Given the description of an element on the screen output the (x, y) to click on. 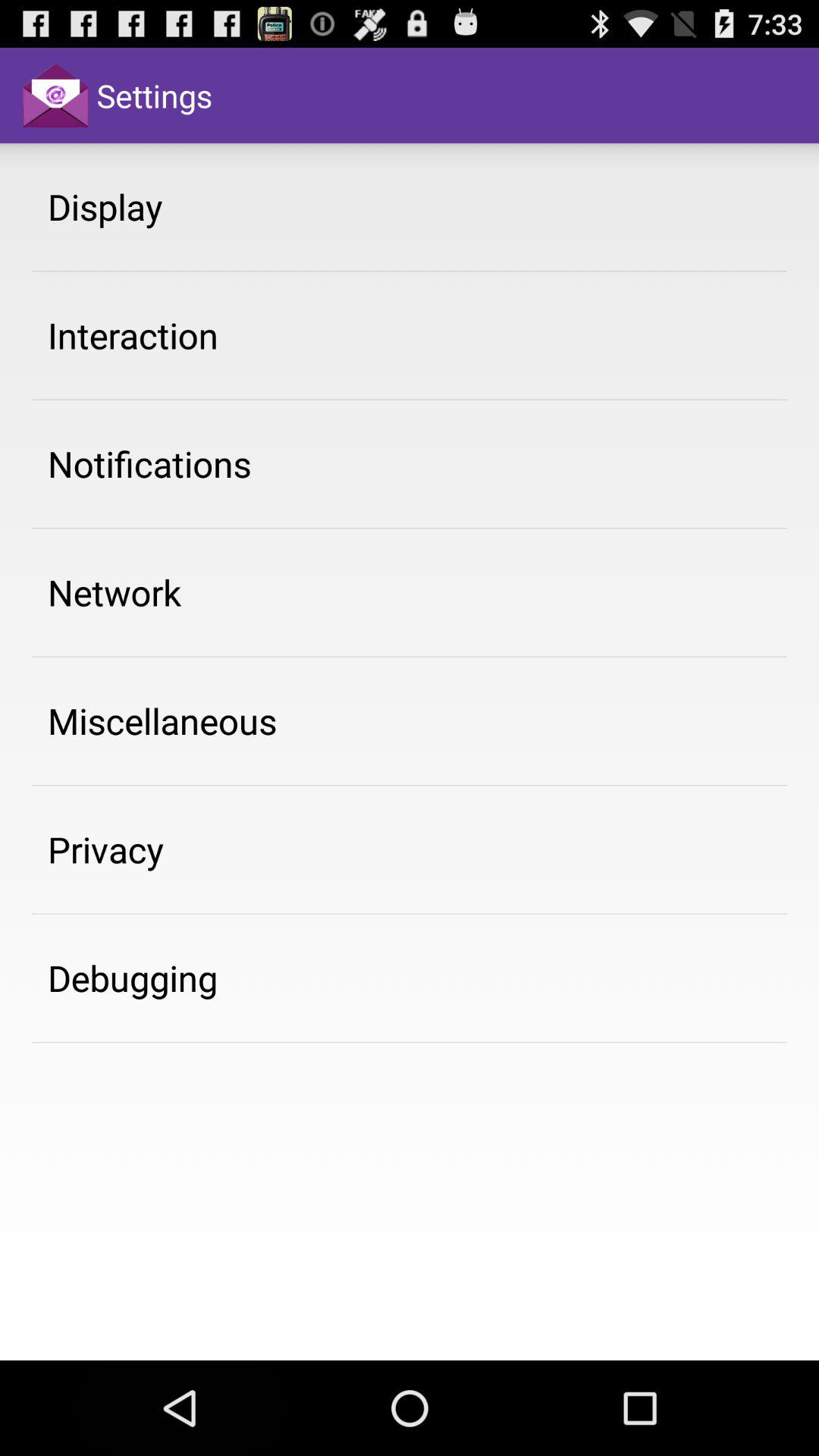
swipe until notifications (149, 463)
